Given the description of an element on the screen output the (x, y) to click on. 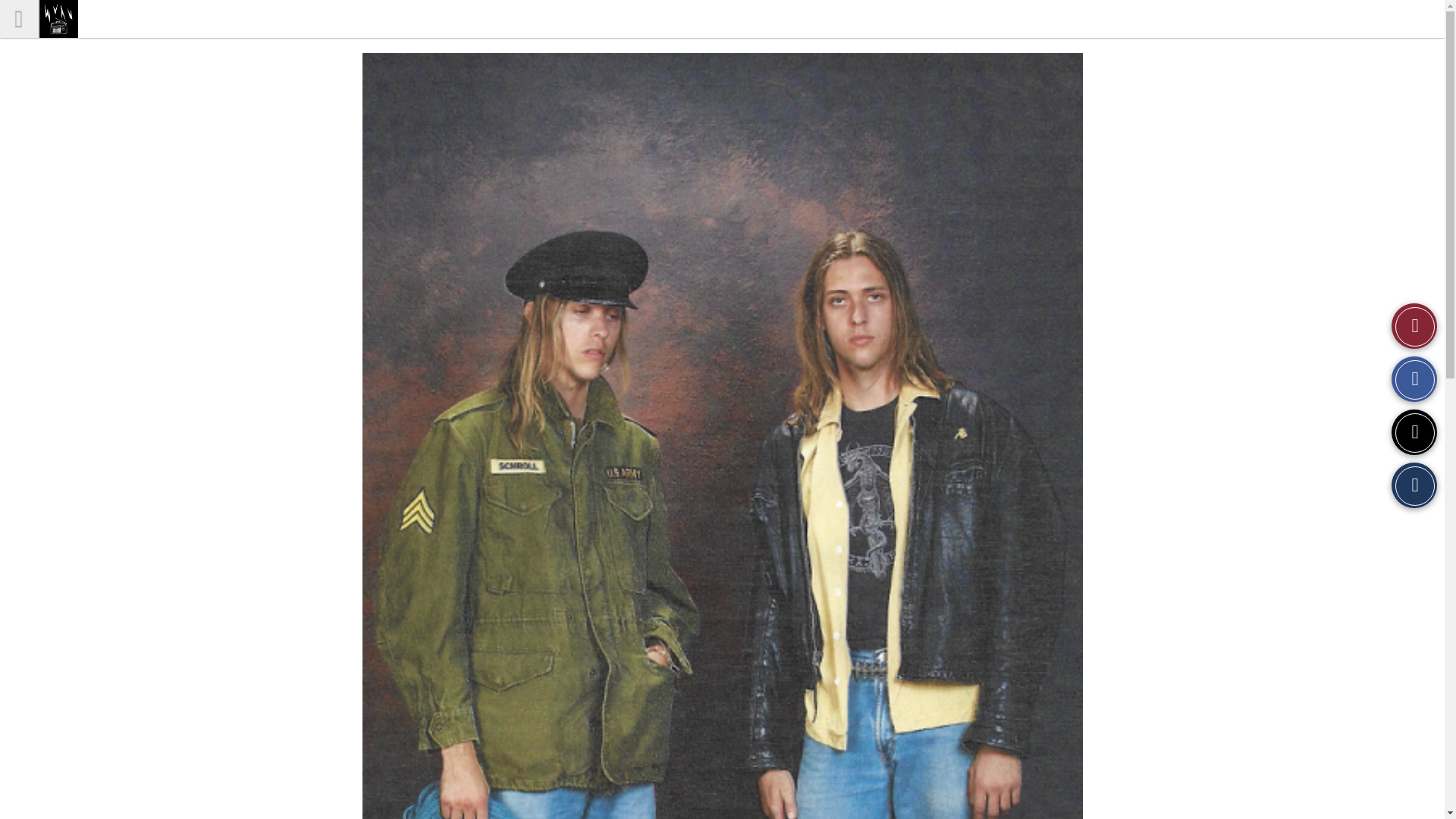
Tweet This Story (1414, 432)
Email this Story (1414, 484)
Share on Facebook (1414, 379)
